Given the description of an element on the screen output the (x, y) to click on. 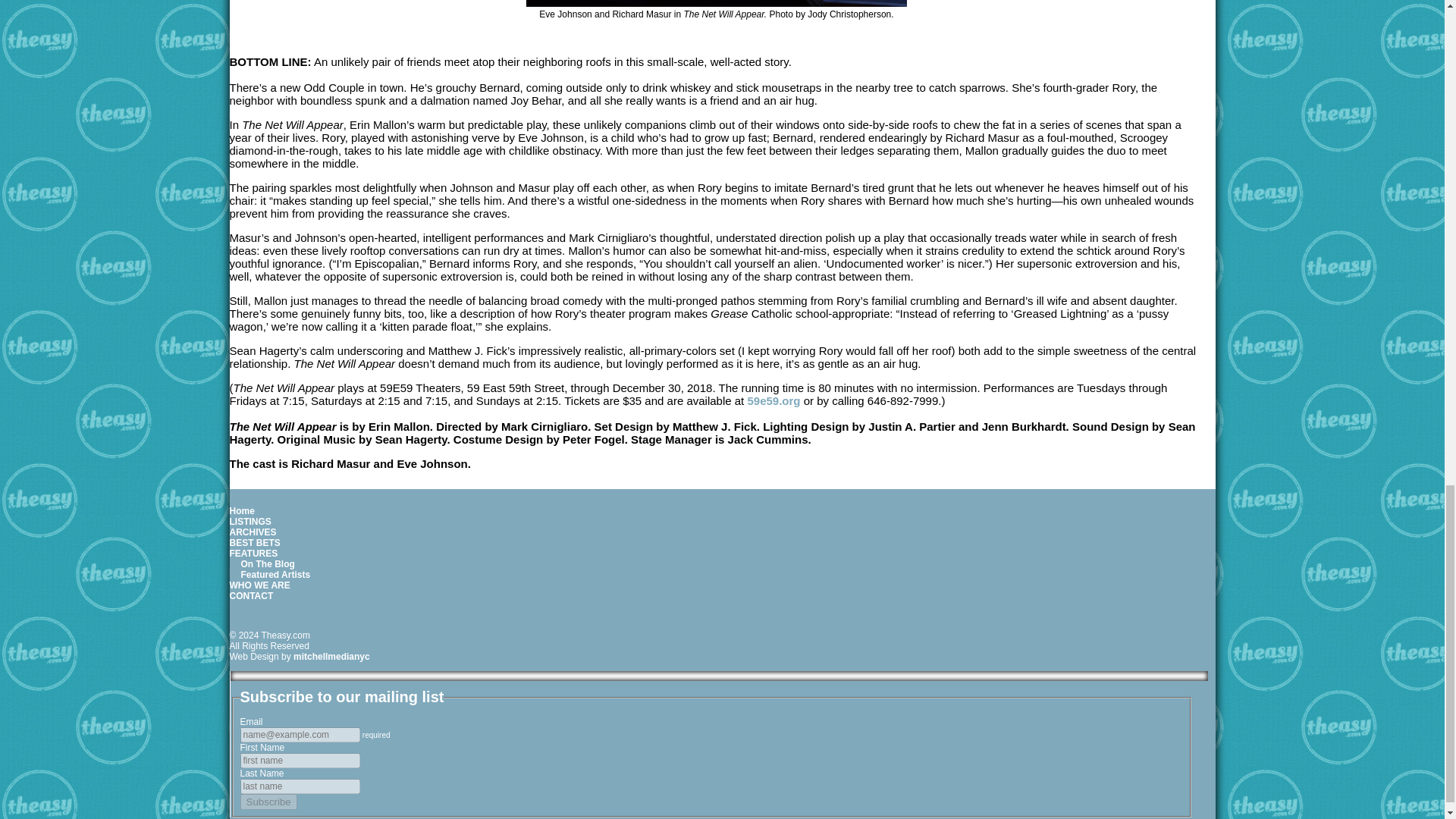
BEST BETS (253, 542)
LISTINGS (249, 521)
On The Blog (268, 563)
Subscribe (268, 801)
ARCHIVES (252, 532)
Featured Artists (276, 574)
Home (240, 511)
59e59.org (772, 400)
CONTACT (250, 595)
mitchellmedianyc (331, 656)
FEATURES (253, 552)
WHO WE ARE (258, 584)
